Given the description of an element on the screen output the (x, y) to click on. 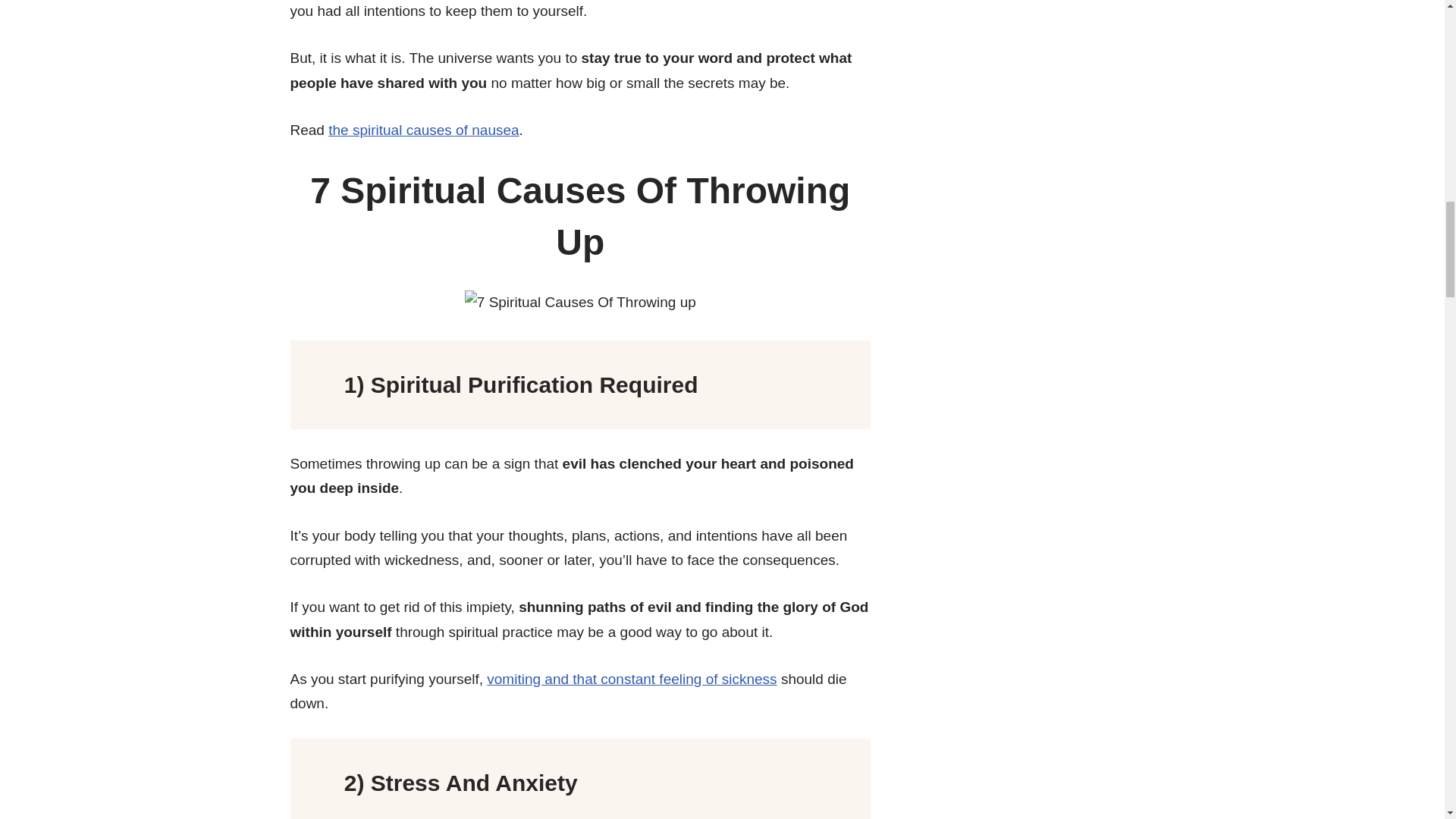
vomiting and that constant feeling of sickness (631, 678)
the spiritual causes of nausea (423, 130)
